Given the description of an element on the screen output the (x, y) to click on. 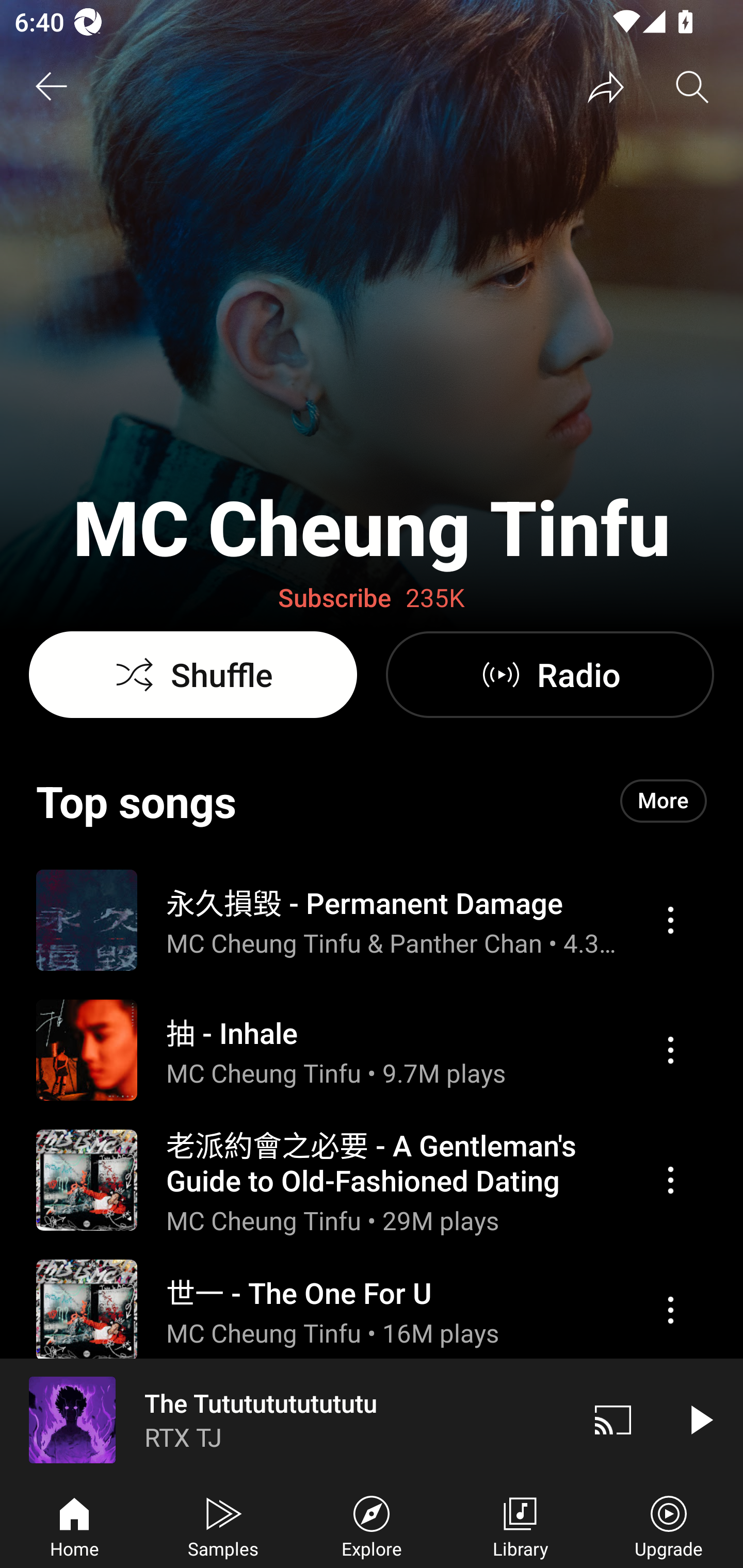
Back (50, 86)
Share (605, 86)
Search (692, 86)
Subscribe 235K (371, 598)
Shuffle (192, 674)
Radio (549, 674)
Action menu (371, 919)
Action menu (670, 920)
Action menu (371, 1049)
Action menu (670, 1050)
Action menu (371, 1179)
Action menu (670, 1179)
Action menu (371, 1309)
Action menu (670, 1310)
Action menu (371, 1428)
Cast. Disconnected (612, 1419)
Play video (699, 1419)
Home (74, 1524)
Samples (222, 1524)
Explore (371, 1524)
Library (519, 1524)
Upgrade (668, 1524)
